Given the description of an element on the screen output the (x, y) to click on. 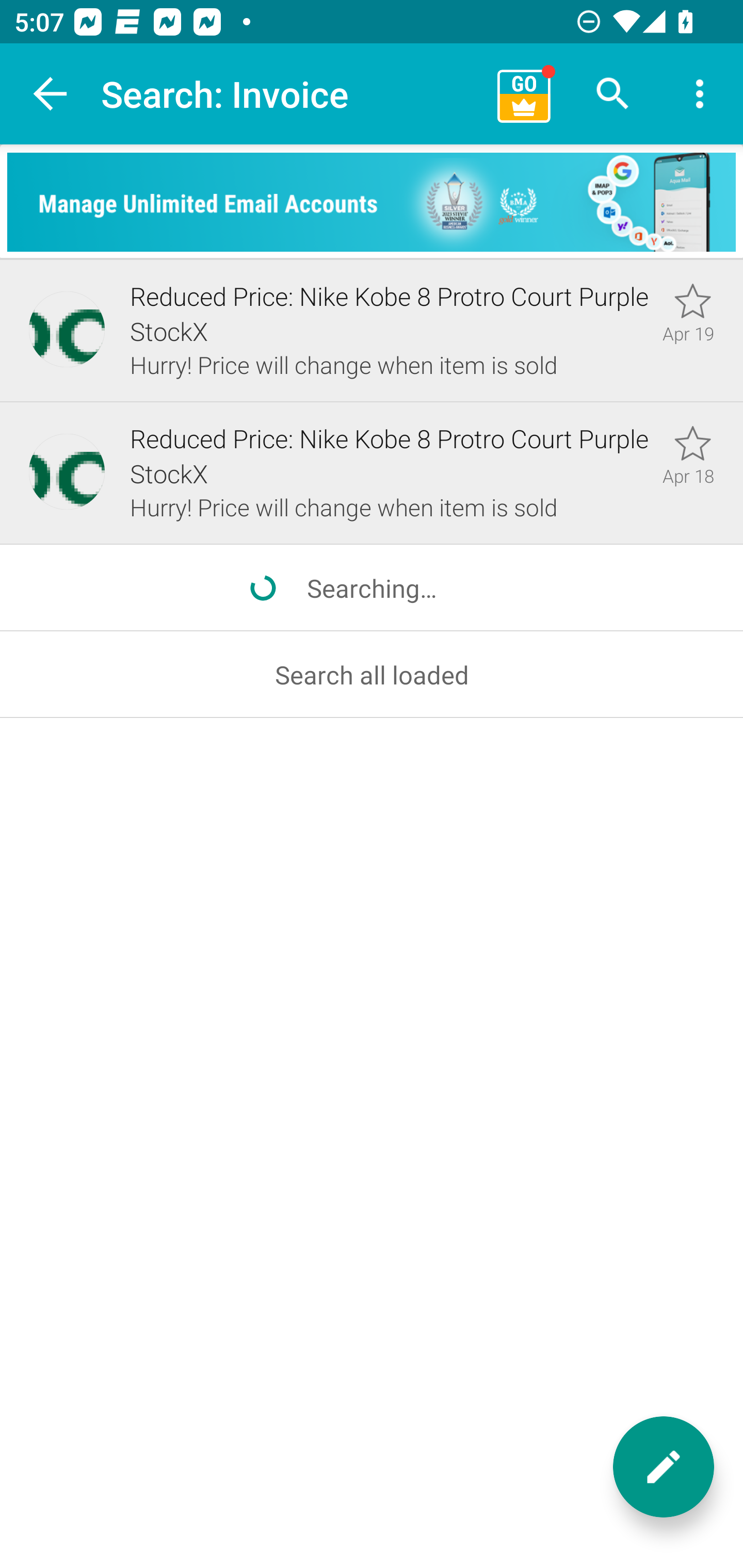
Navigate up (50, 93)
Search (612, 93)
More options (699, 93)
Searching… (371, 587)
Search all loaded (371, 674)
New message (663, 1466)
